Given the description of an element on the screen output the (x, y) to click on. 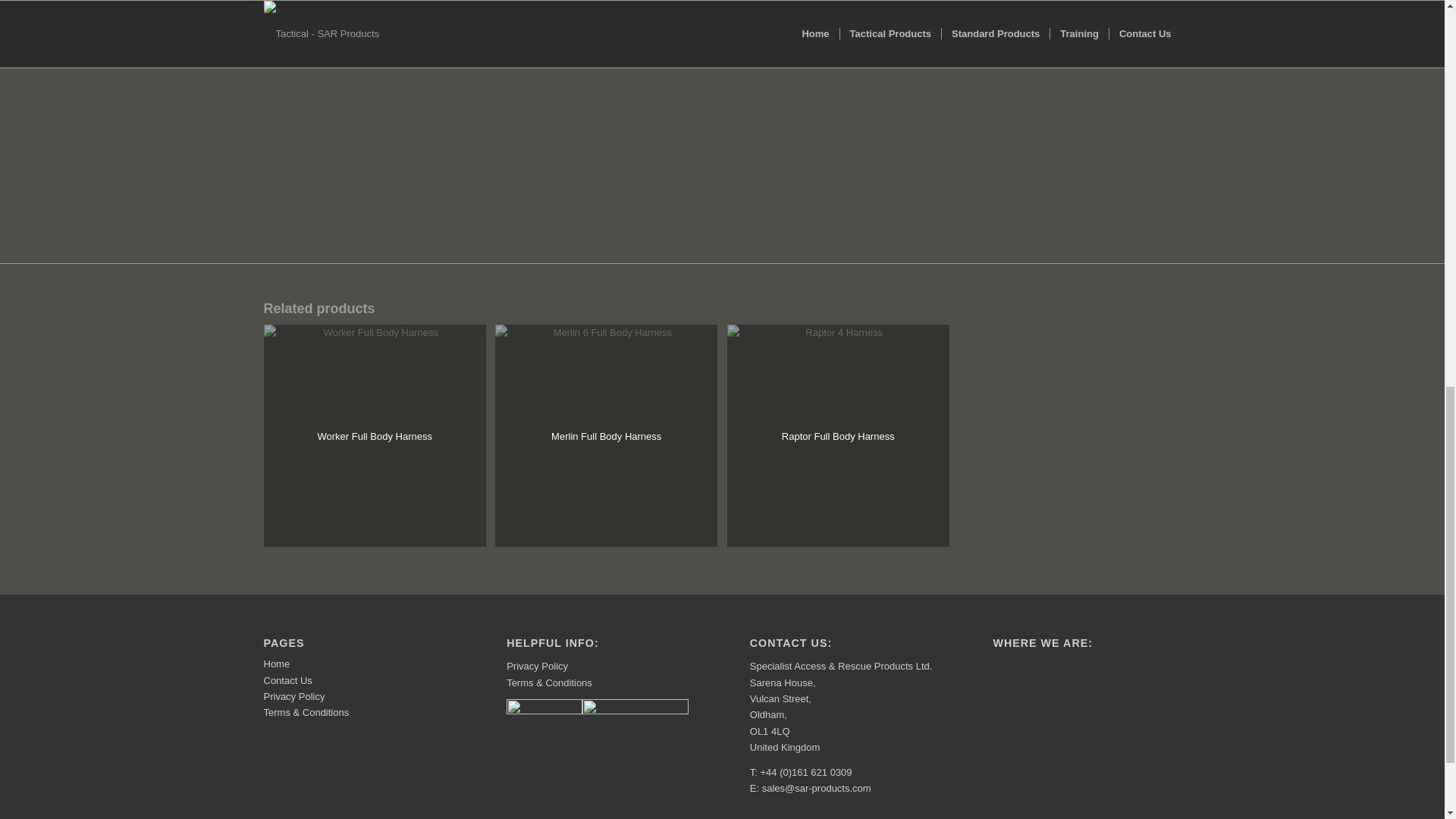
Worker Full Body Harness (374, 435)
Privacy Policy (536, 665)
Privacy Policy (293, 696)
Raptor Full Body Harness (837, 435)
Home (276, 663)
Contact Us (288, 680)
Merlin Full Body Harness (606, 435)
